Given the description of an element on the screen output the (x, y) to click on. 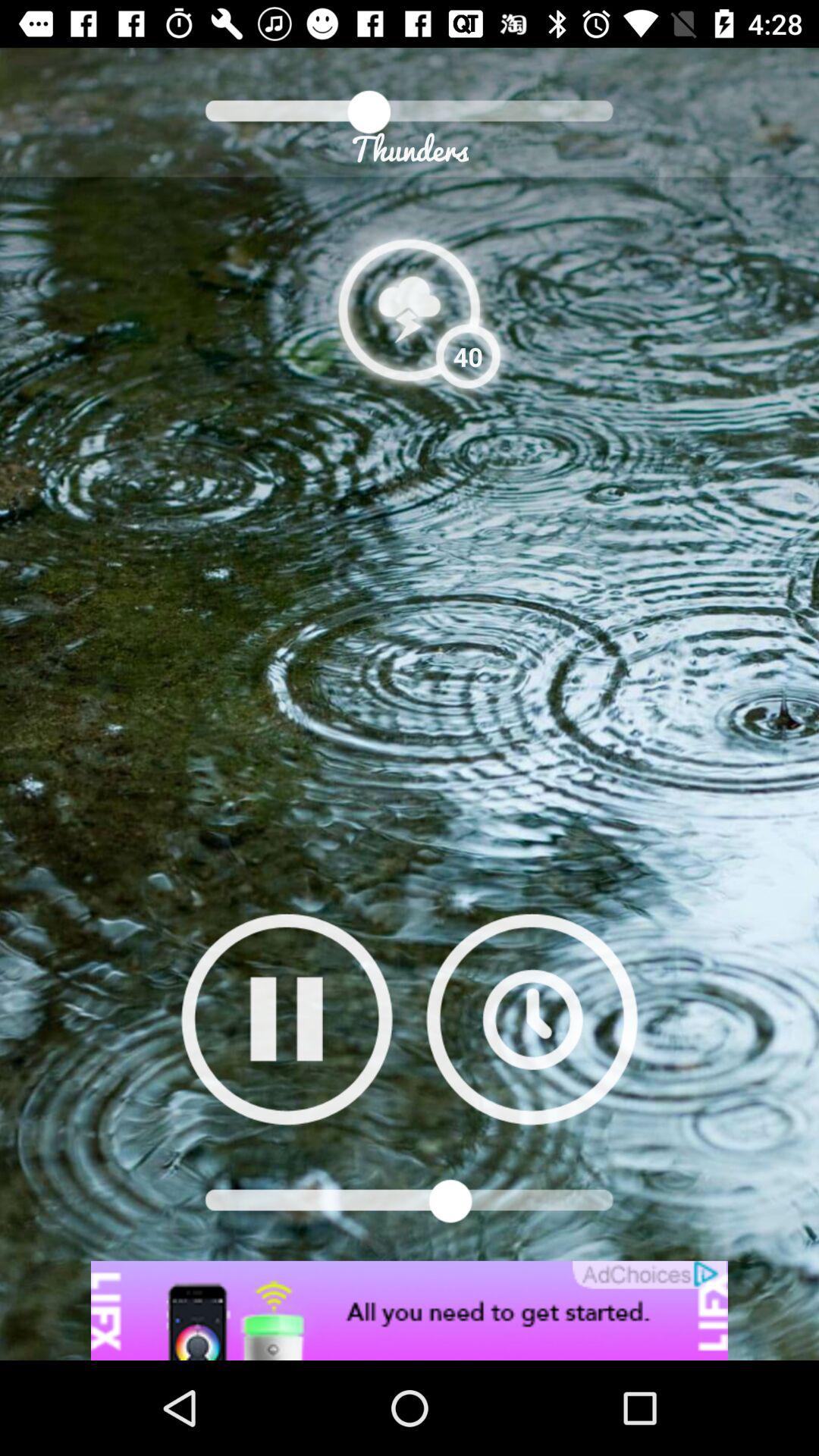
visit the advertisement site (409, 1310)
